Given the description of an element on the screen output the (x, y) to click on. 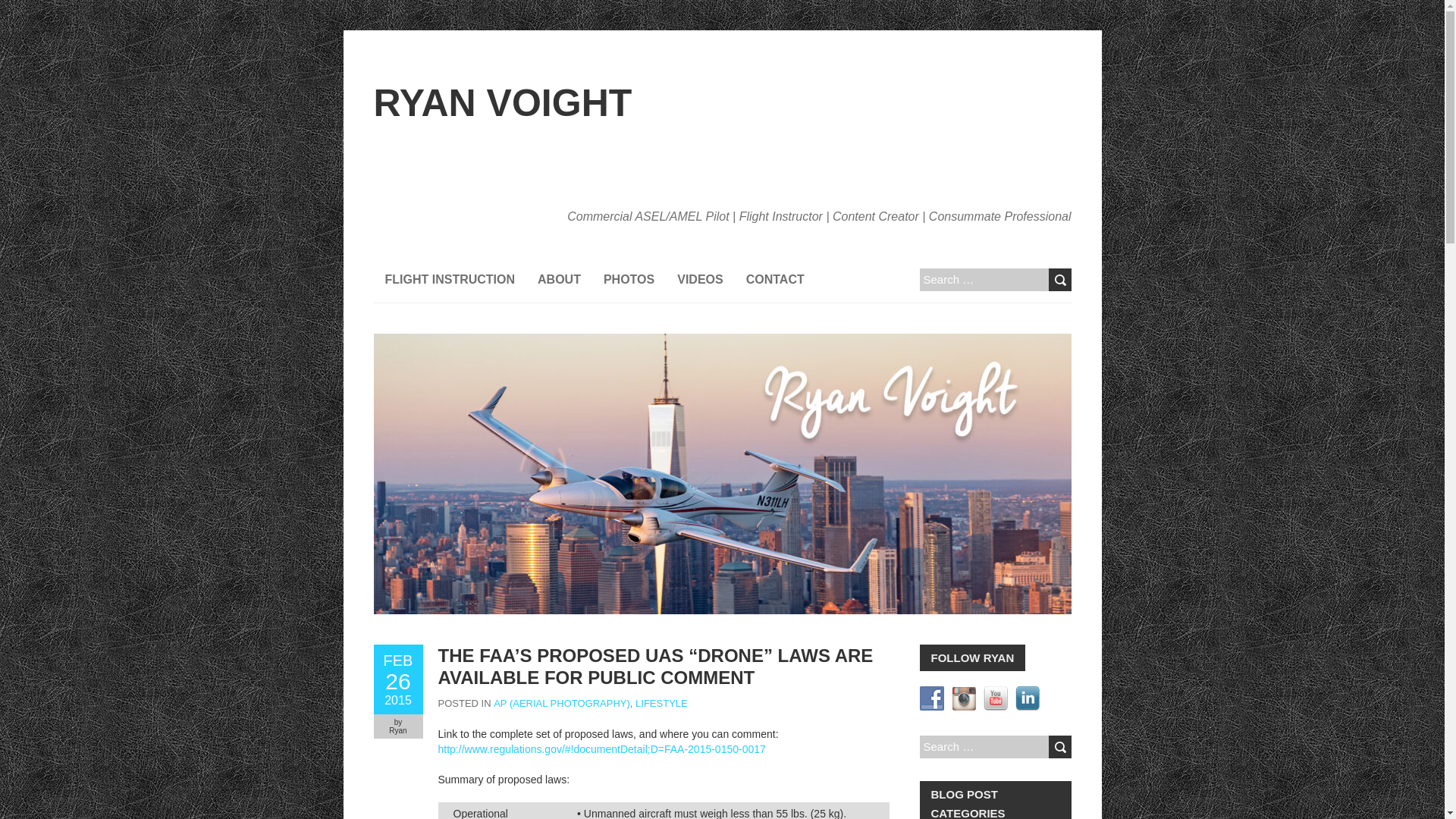
Follow Ryan on  Instagram (962, 698)
Search (1059, 279)
PHOTOS (628, 279)
Search (1059, 746)
VIDEOS (699, 279)
LIFESTYLE (660, 703)
Follow Ryan on  LinkedIn (1026, 698)
Follow Ryan on  Facebook (930, 698)
Search (1059, 279)
CONTACT (775, 279)
